Given the description of an element on the screen output the (x, y) to click on. 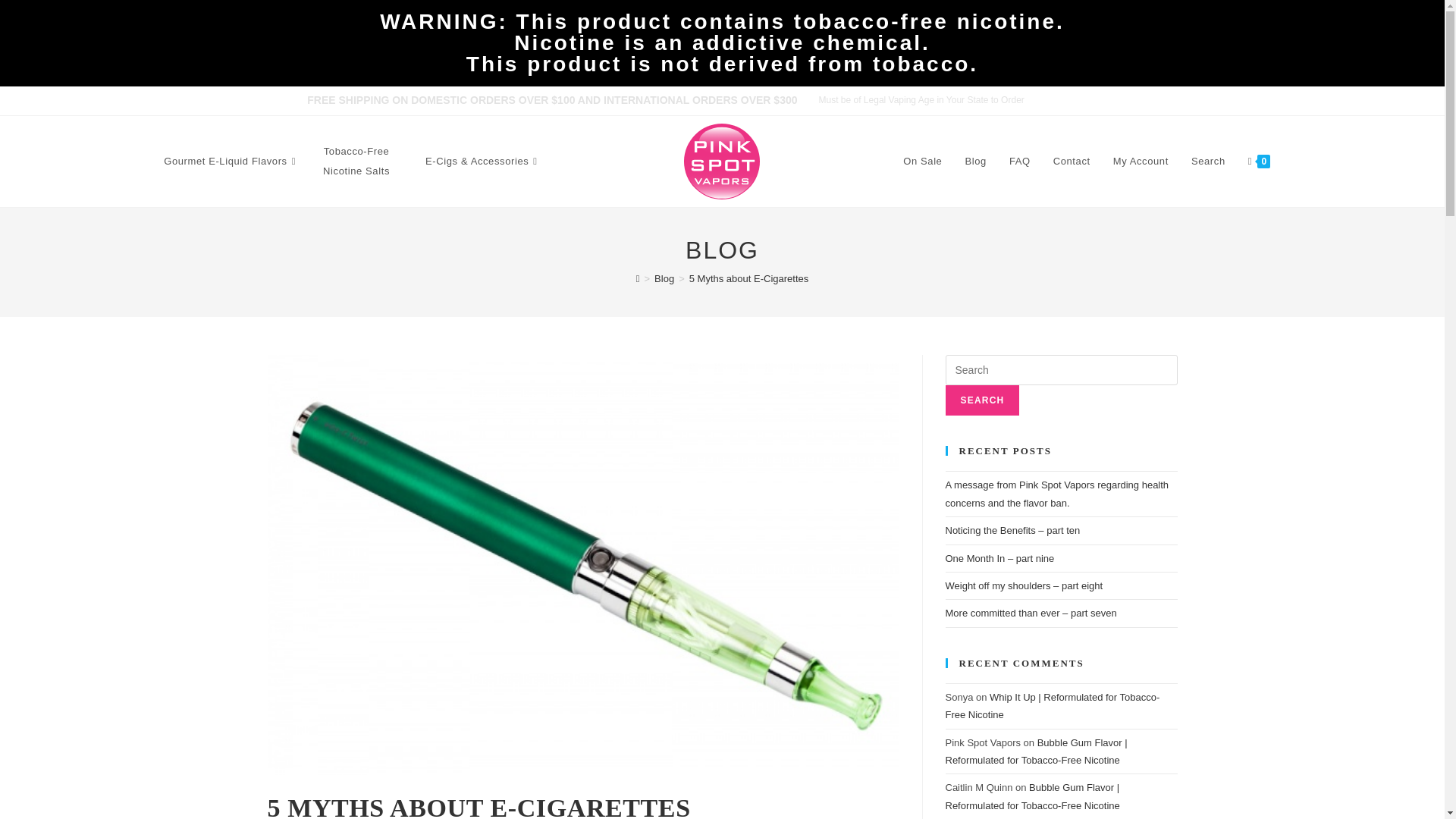
Search (981, 399)
Toggle website search (1297, 161)
Search (1185, 222)
Gourmet E-Liquid Flavors (231, 161)
On Sale (922, 161)
Tobacco-Free Nicotine Salts (356, 160)
Contact (1072, 161)
Blog (663, 278)
Search (1207, 161)
My Account (1140, 161)
5 Myths about E-Cigarettes (748, 278)
Search (981, 399)
